Given the description of an element on the screen output the (x, y) to click on. 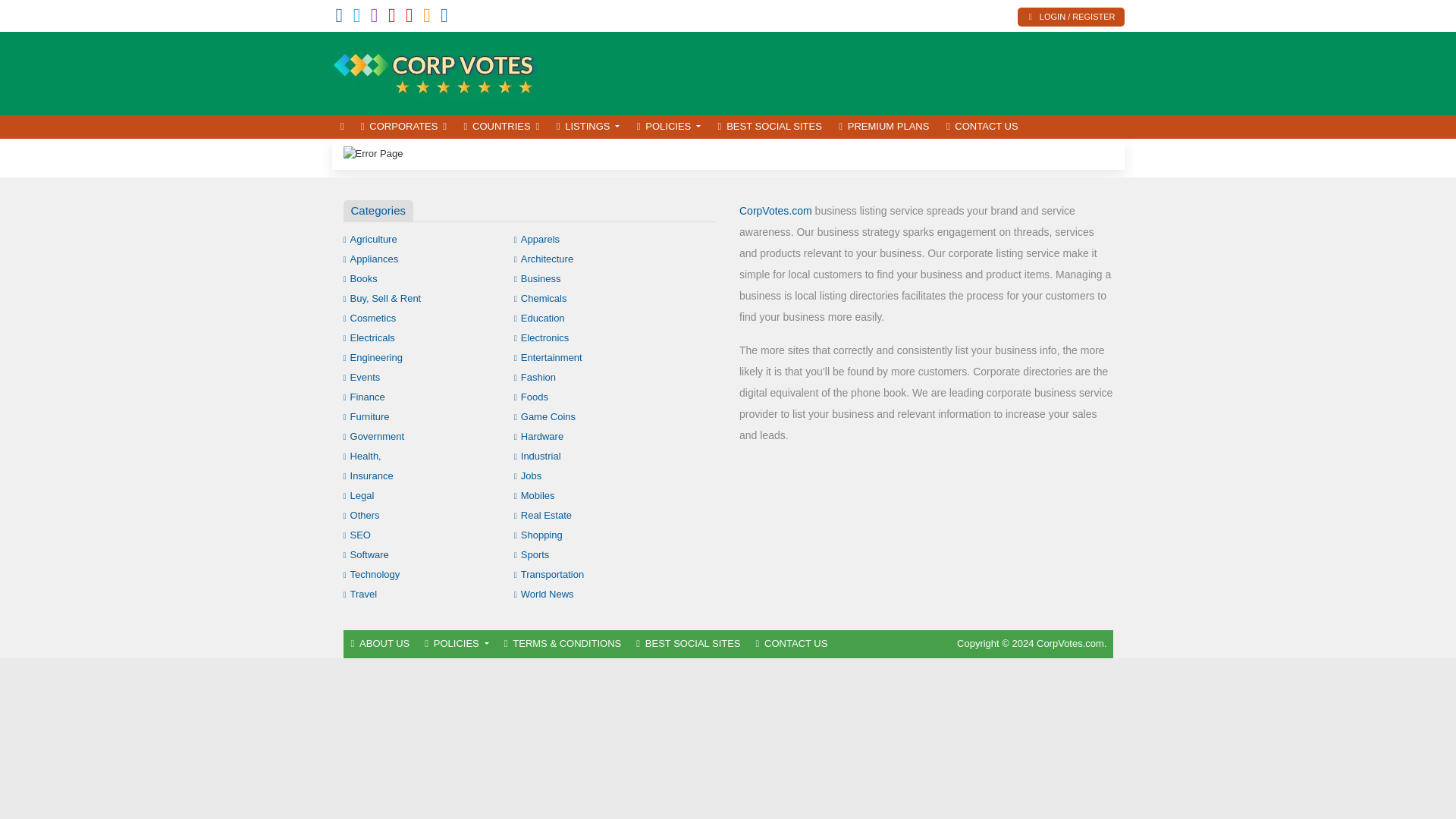
COUNTRIES (500, 126)
CORPORATES (403, 126)
Drive Traffic of Most Voted Corporate Bookmarks to Internet (434, 71)
